Given the description of an element on the screen output the (x, y) to click on. 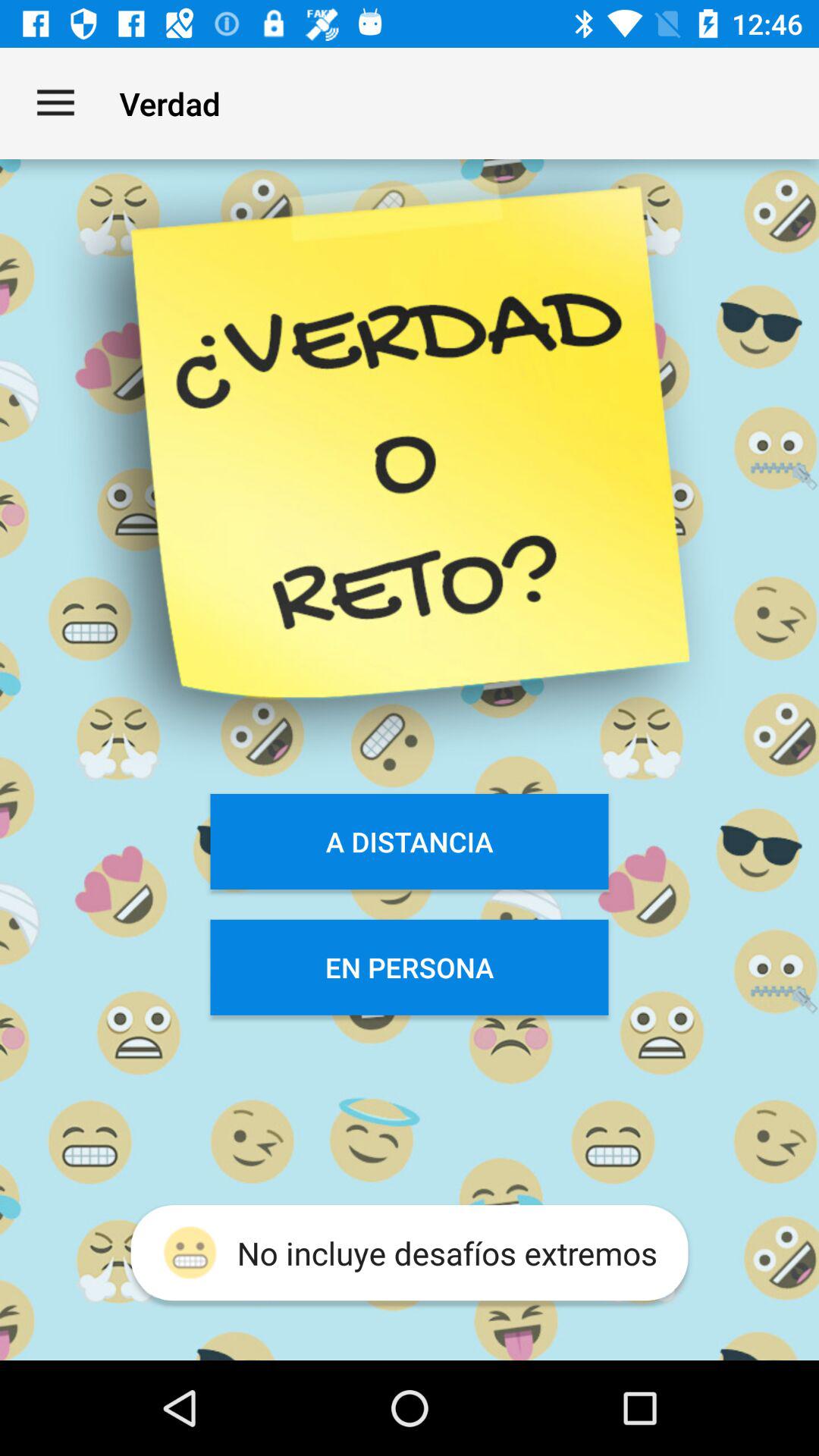
click the app next to the verdad (55, 103)
